Given the description of an element on the screen output the (x, y) to click on. 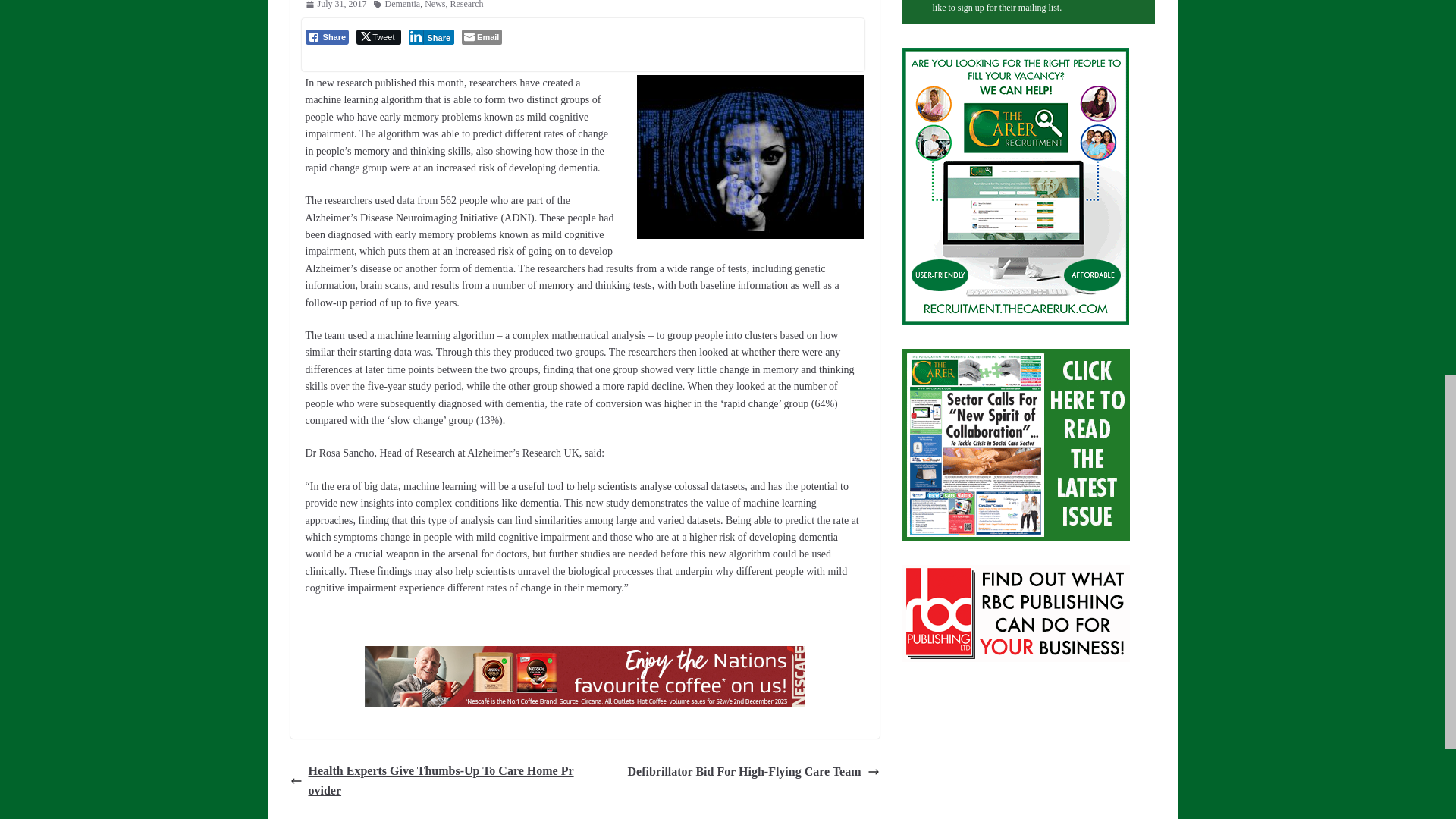
2:43 pm (335, 6)
